Given the description of an element on the screen output the (x, y) to click on. 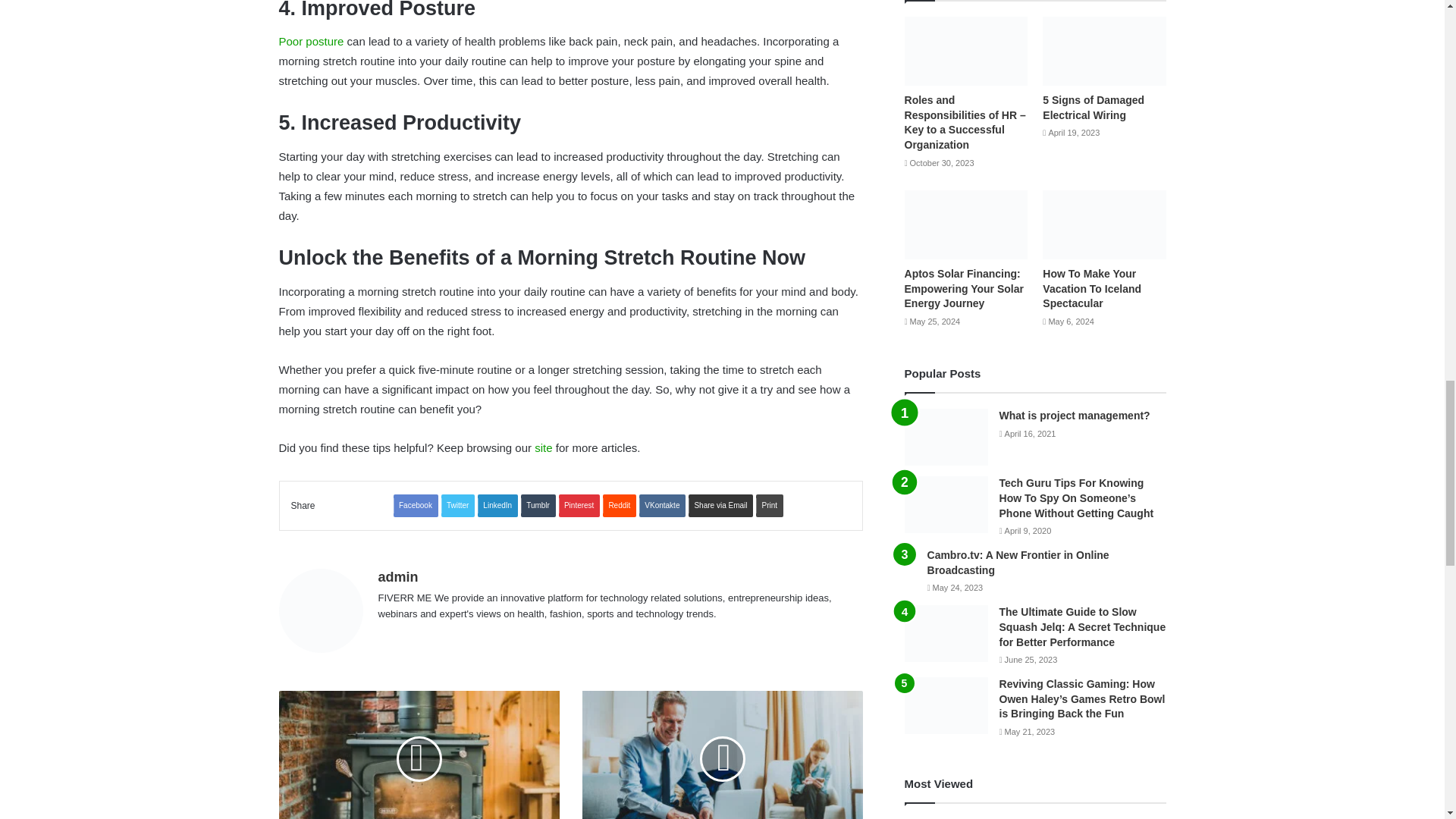
site (542, 447)
Facebook (415, 505)
Poor posture (311, 41)
